Given the description of an element on the screen output the (x, y) to click on. 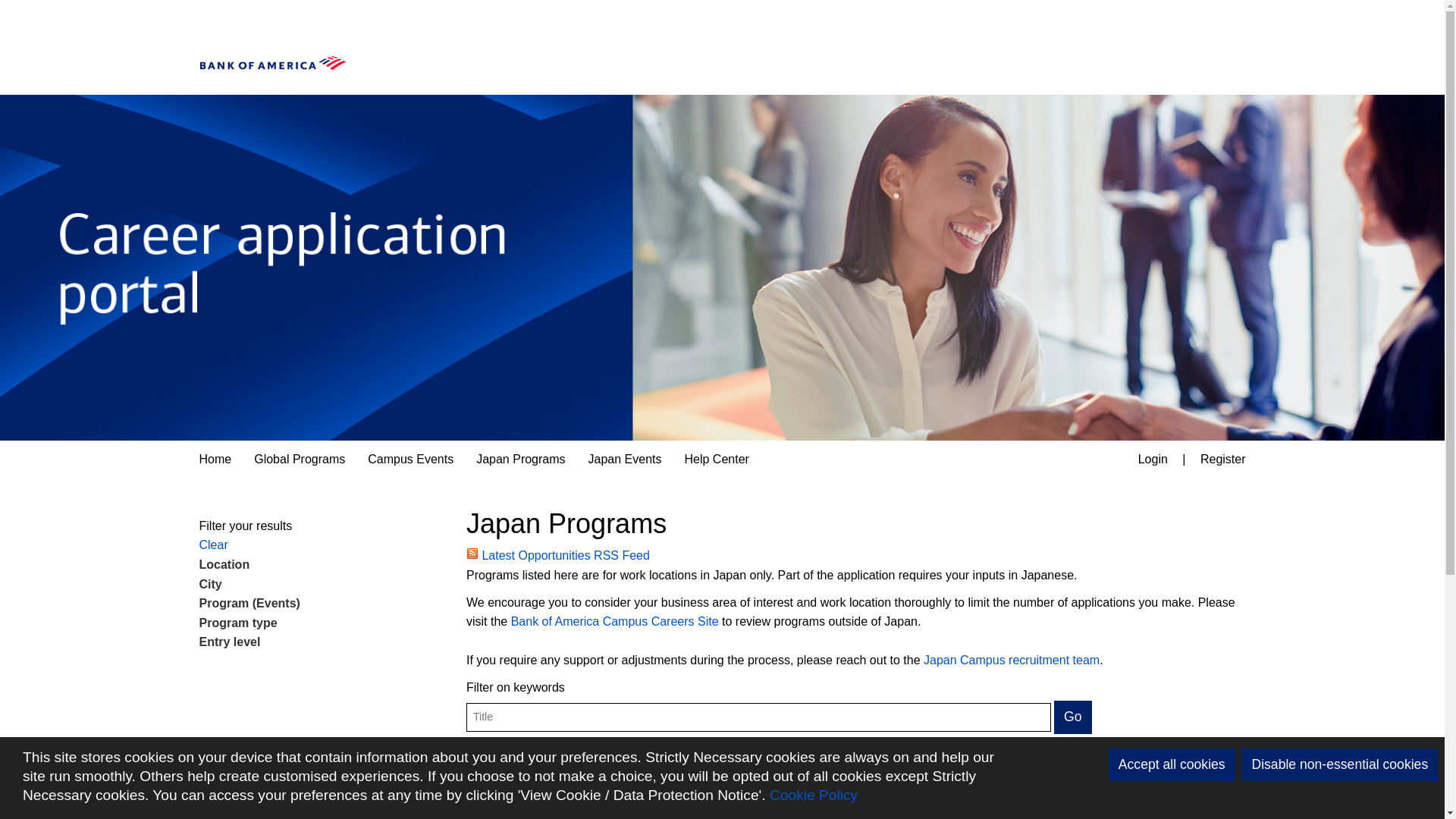
Japan Programs (520, 459)
Bank of America Campus Careers Site (615, 621)
Accept all cookies (1171, 764)
Home (215, 459)
Help Center (716, 459)
Latest Opportunities RSS Feed (557, 554)
Japan Campus recruitment team (1011, 659)
Go (1072, 717)
Register (1223, 459)
Japan Events (624, 459)
Subscribe to our Latest Opportunities RSS Feed (557, 554)
Campus Events (410, 459)
Cookie Policy (813, 795)
Global Programs (299, 459)
Clear (212, 544)
